Given the description of an element on the screen output the (x, y) to click on. 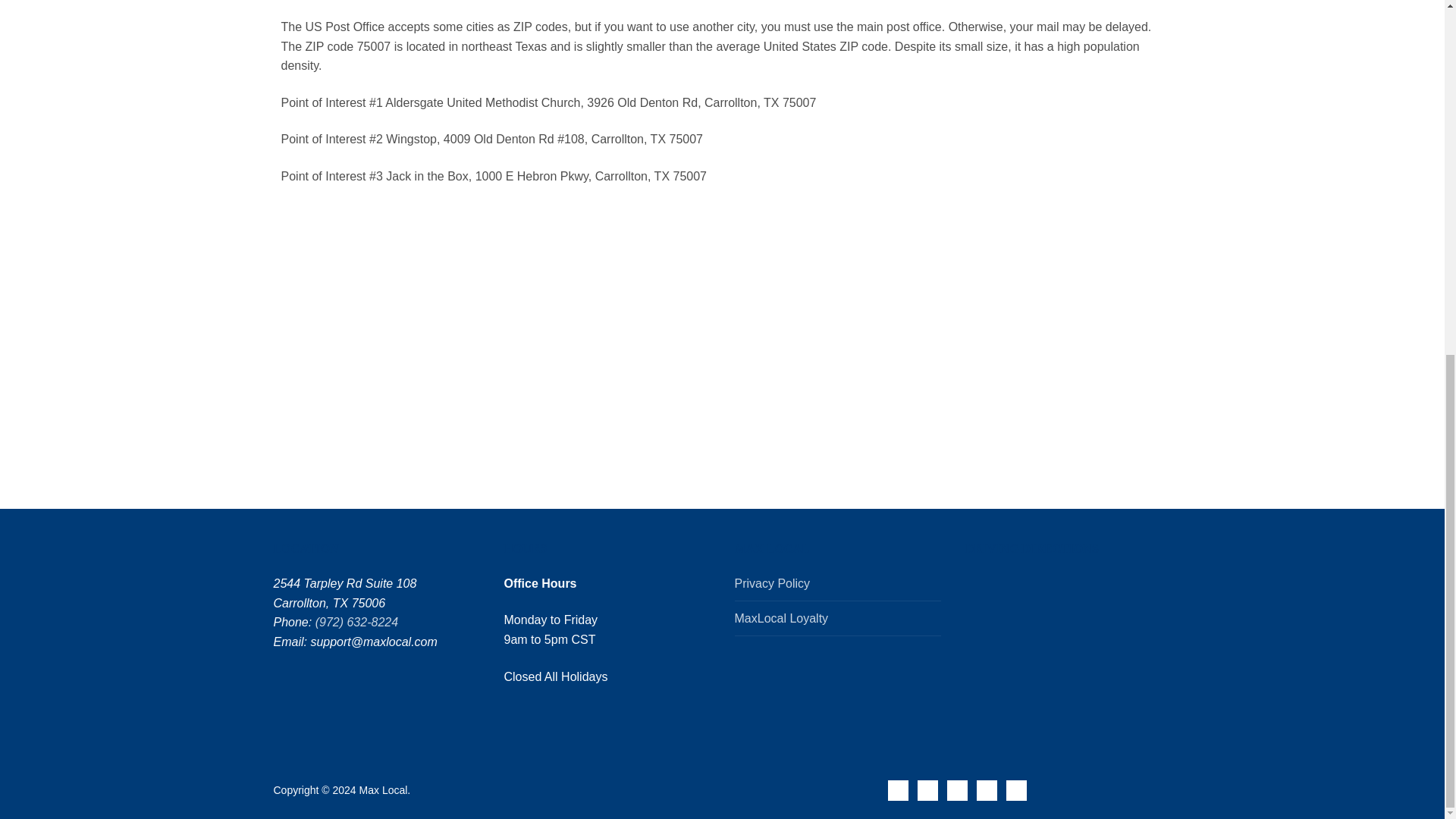
MaxLocal Loyalty (836, 622)
Youtube (957, 790)
Instagram (986, 790)
Privacy Policy (836, 587)
Pinterest (1016, 790)
Facebook (898, 790)
Twitter (927, 790)
